Given the description of an element on the screen output the (x, y) to click on. 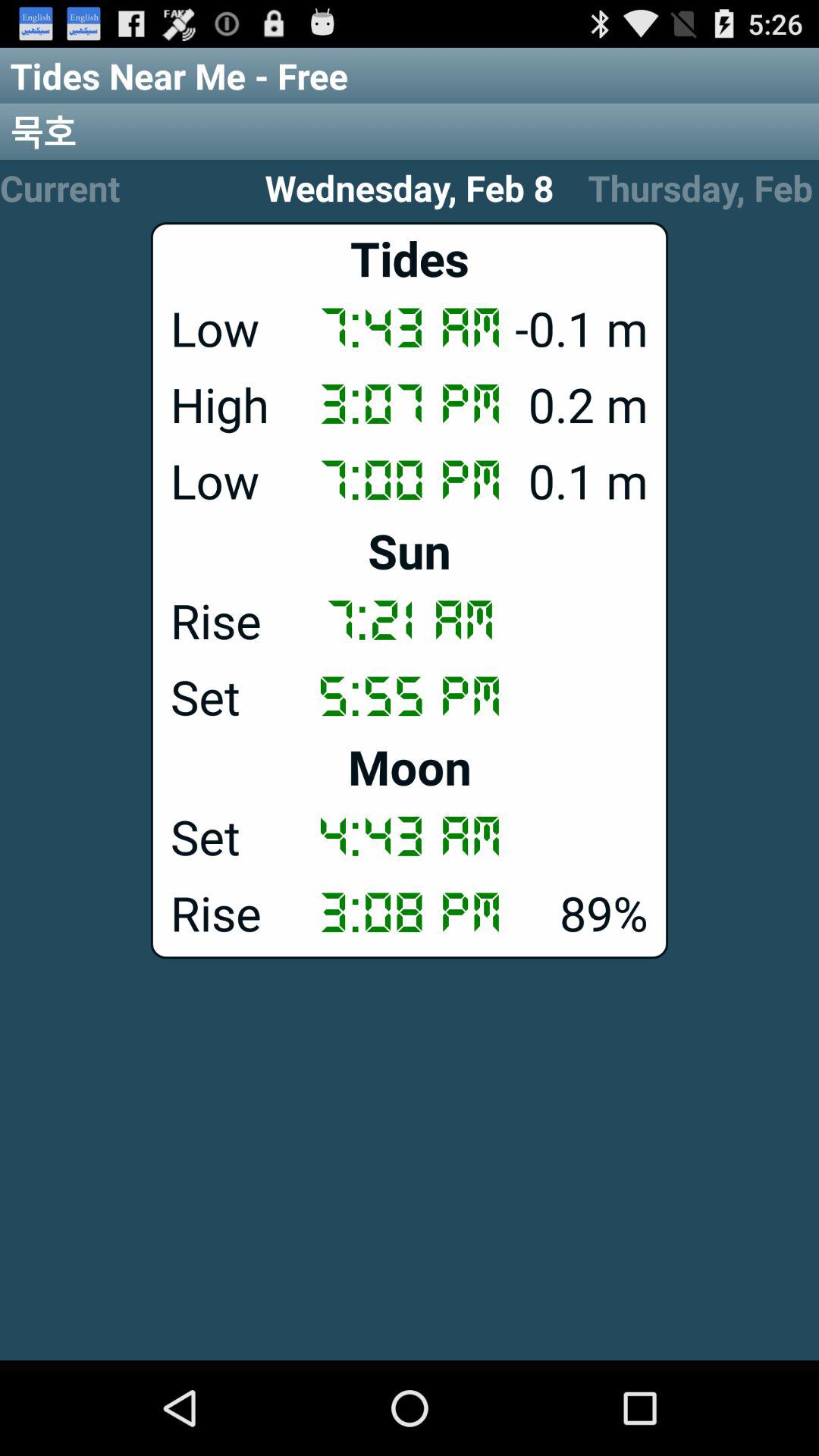
press app above the low (409, 404)
